Given the description of an element on the screen output the (x, y) to click on. 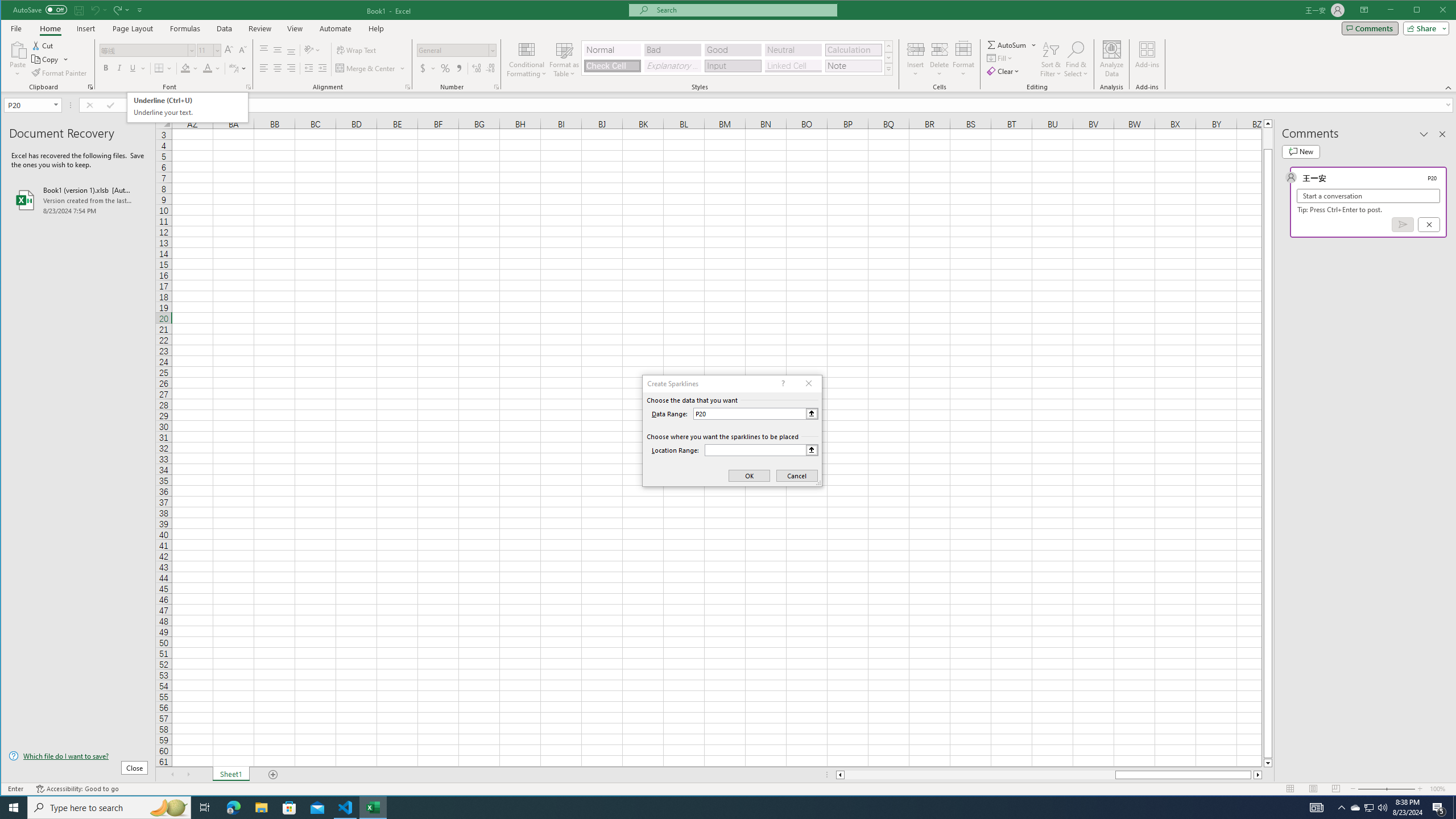
Note (853, 65)
Bold (105, 68)
Page left (979, 774)
Percent Style (445, 68)
Cancel (1428, 224)
Cell Styles (887, 69)
Bottom Align (291, 49)
AutoSum (1012, 44)
Fill Color (189, 68)
Format as Table (564, 59)
